Given the description of an element on the screen output the (x, y) to click on. 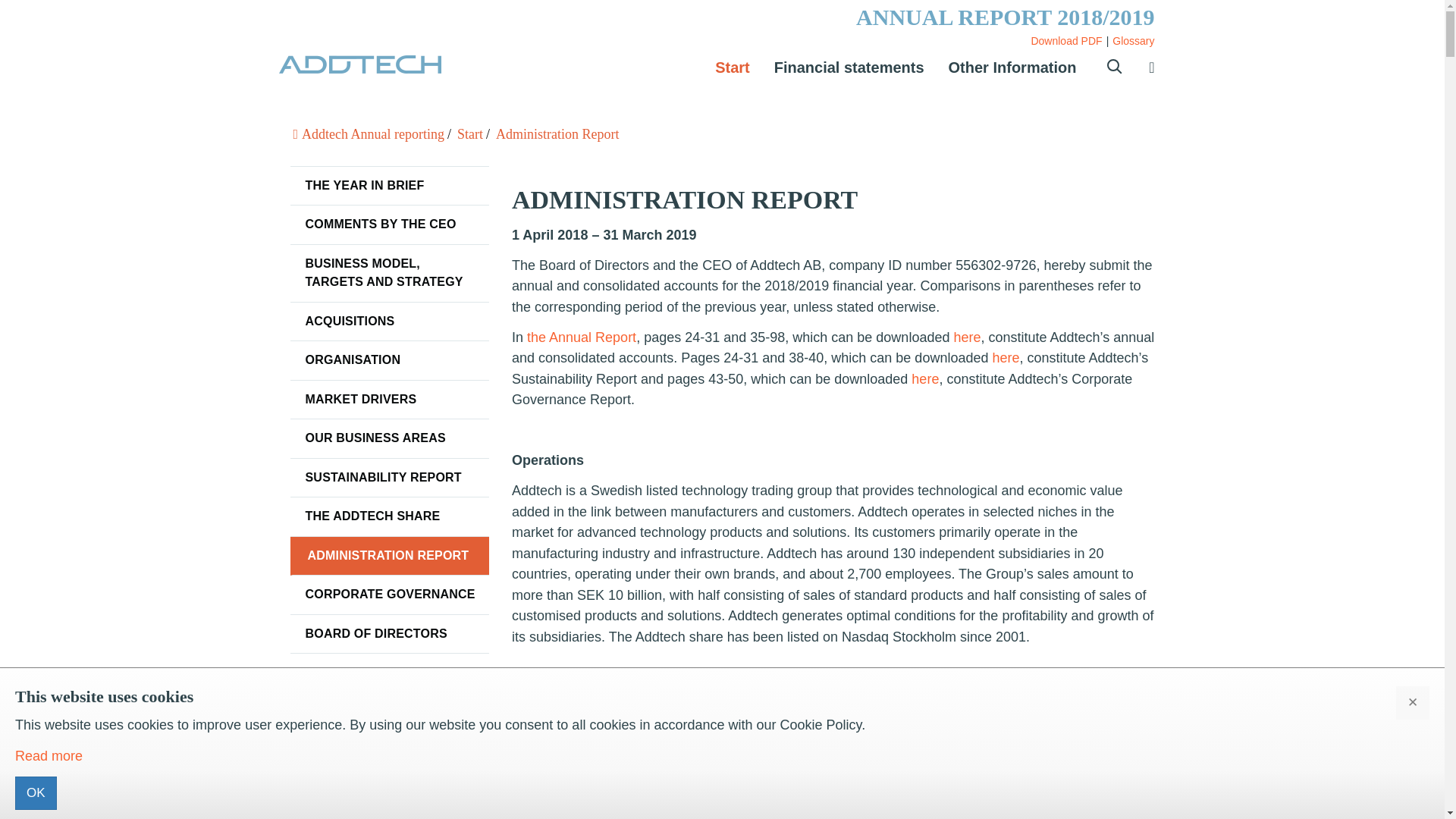
Acquisitions (389, 321)
Glossary (1133, 40)
Organisation (389, 360)
Addtech Annual reporting (372, 133)
Administration Report (389, 556)
Comments by the CEO (389, 224)
Sustainability report (389, 477)
Glossary (1133, 40)
The Addtech share (389, 516)
Download PDF (1066, 40)
